Given the description of an element on the screen output the (x, y) to click on. 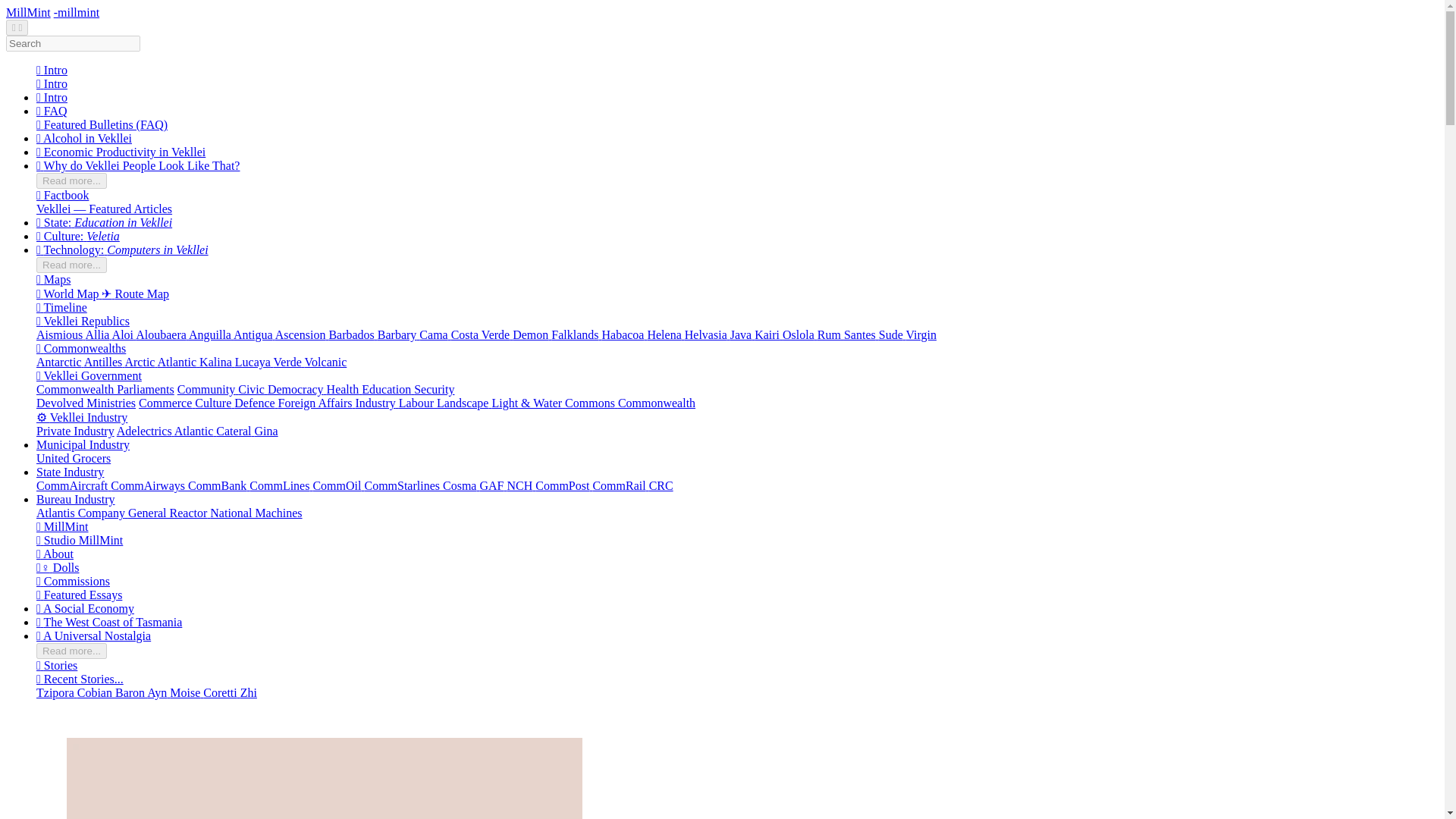
Barbary (398, 334)
Education in Vekllei (122, 222)
Antigua (253, 334)
Read more... (71, 264)
Barbados (353, 334)
MillMint (27, 11)
Aloi (124, 334)
Anguilla (210, 334)
Computers in Vekllei (157, 249)
Cama (434, 334)
Veletia (102, 236)
Read more... (71, 179)
Aloubaera (162, 334)
Vekllei (52, 208)
Read more... (71, 264)
